Given the description of an element on the screen output the (x, y) to click on. 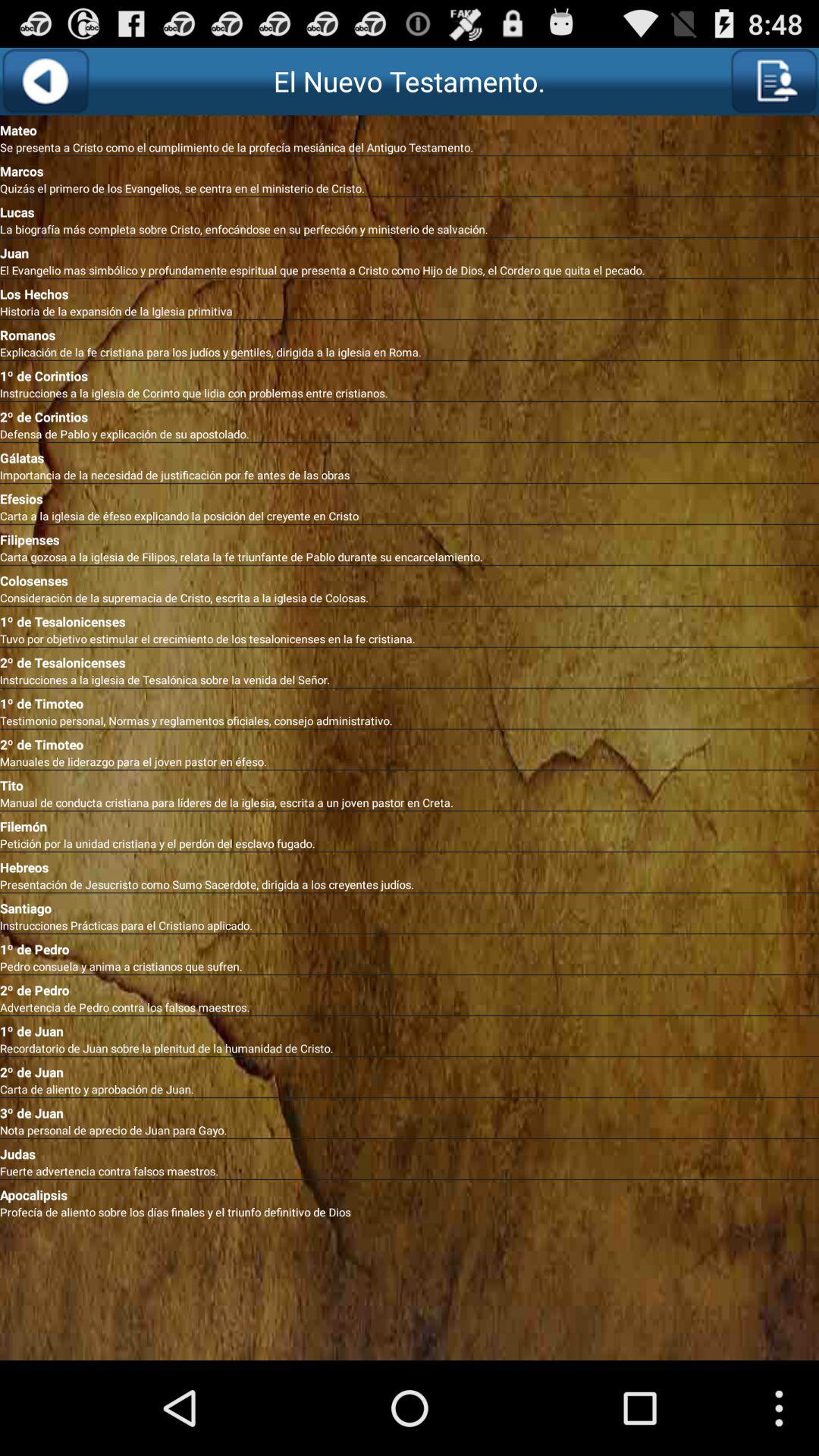
click the icon to the right of el nuevo testamento. app (773, 81)
